Given the description of an element on the screen output the (x, y) to click on. 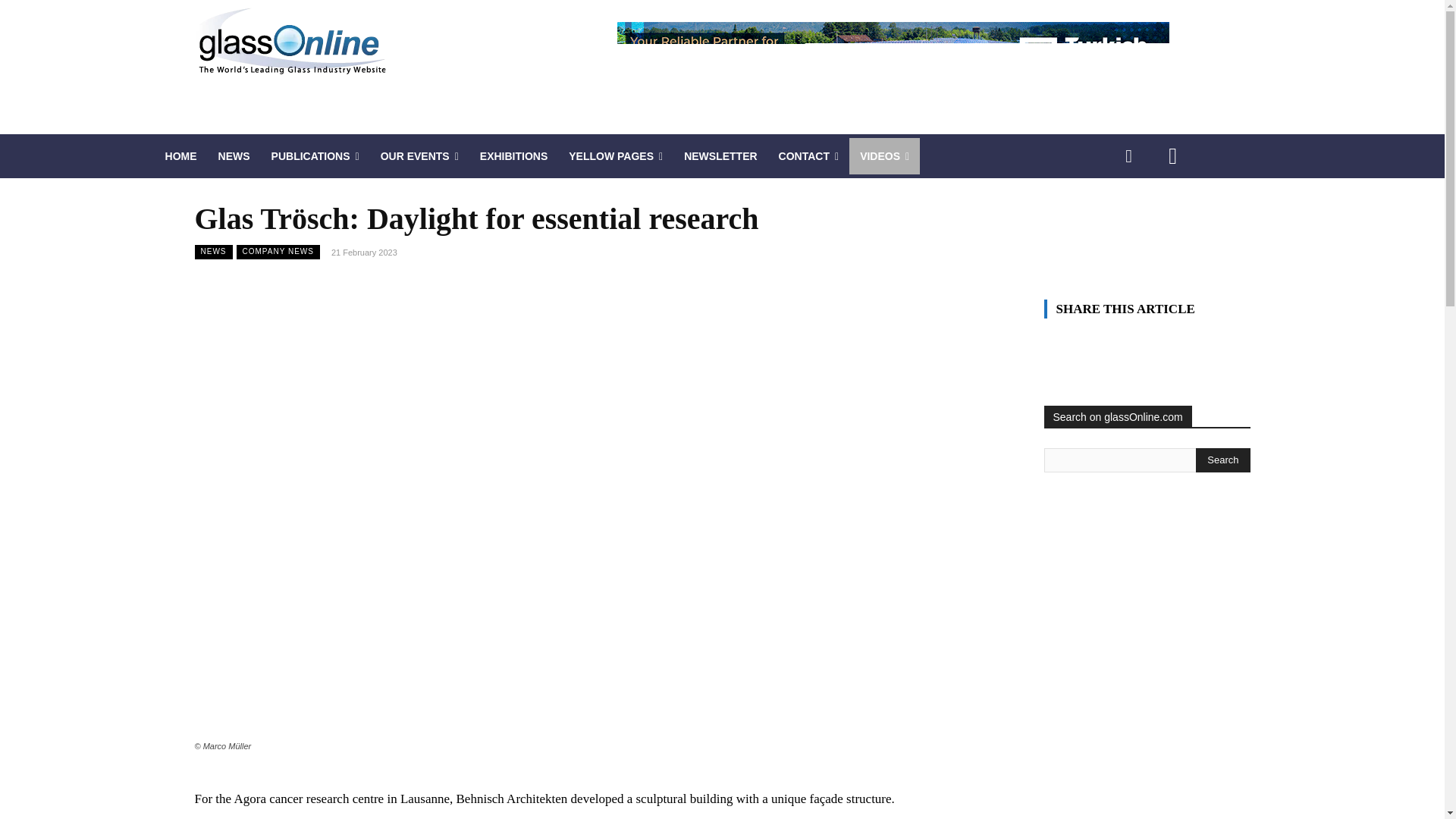
Youtube (1172, 156)
Linkedin (1128, 156)
Search (1222, 459)
